Given the description of an element on the screen output the (x, y) to click on. 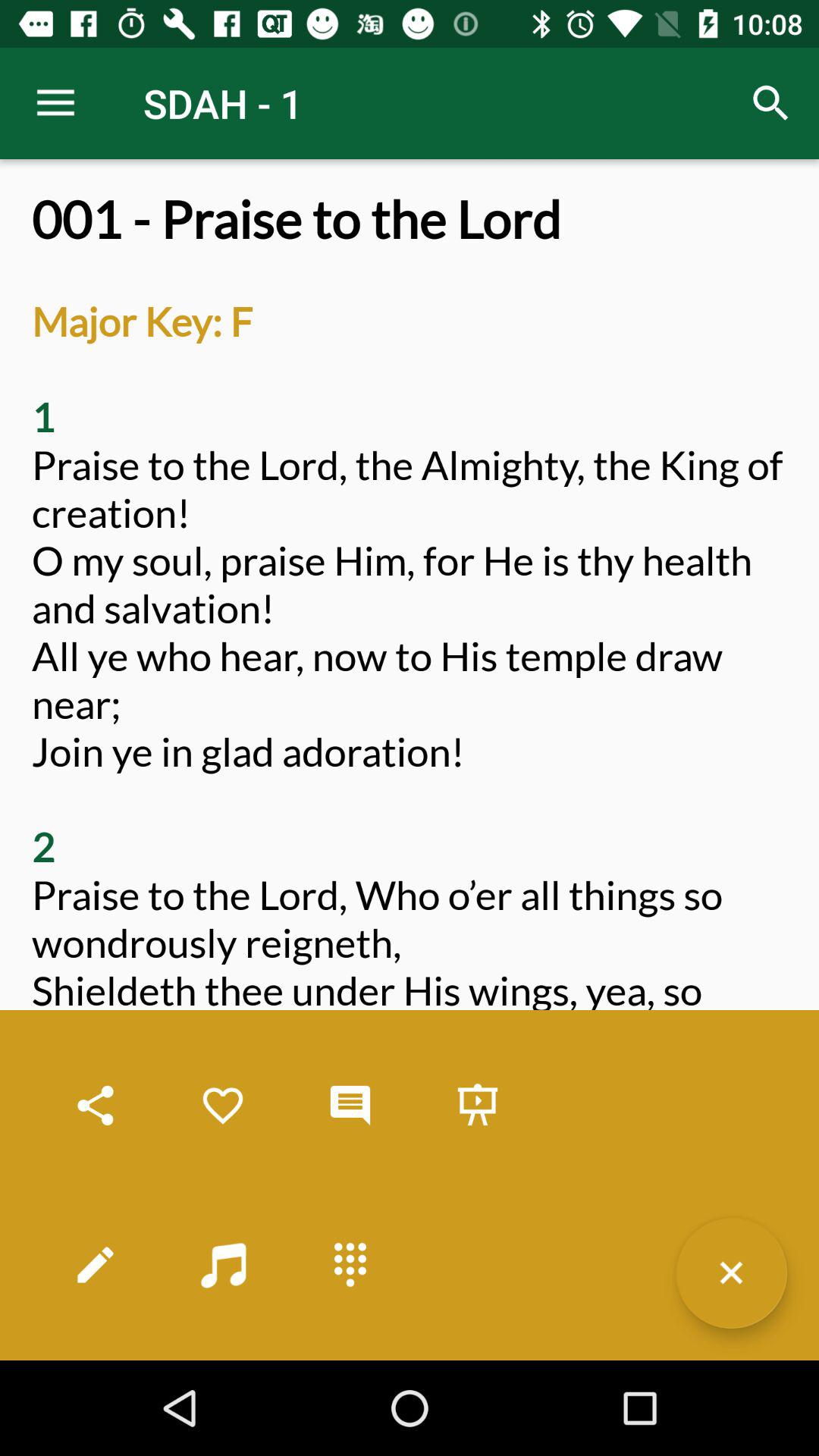
go to message (350, 1105)
